Given the description of an element on the screen output the (x, y) to click on. 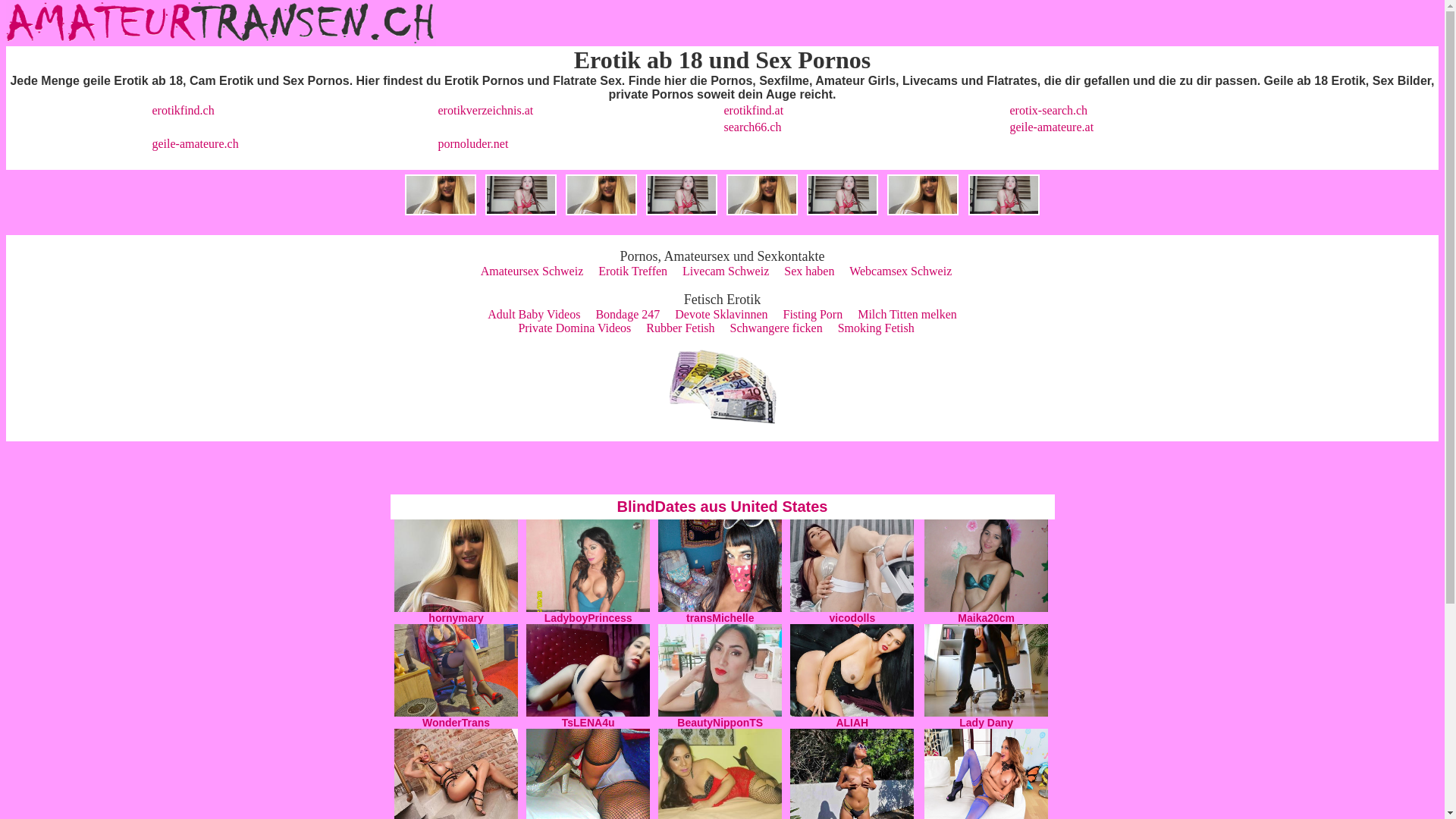
HOME Element type: hover (221, 41)
TsLENA4u Element type: text (588, 722)
geile-amateure.ch Element type: text (194, 143)
hornymary Element type: text (455, 617)
Private Domina Videos Element type: text (573, 327)
vicodolls Element type: text (851, 617)
Besuche mich jetzt Live in meiner Show Element type: hover (986, 712)
Devote Sklavinnen Element type: text (720, 313)
transMichelle Element type: text (719, 617)
Besuche mich jetzt Live in meiner Show Element type: hover (851, 712)
pornoluder.net Element type: text (473, 143)
Amateursex Schweiz Element type: text (531, 270)
Besuche mich jetzt Live in meiner Show Element type: hover (455, 712)
search66.ch Element type: text (752, 126)
ALIAH Element type: text (851, 722)
Smoking Fetish Element type: text (875, 327)
Adult Baby Videos Element type: text (533, 313)
Erotik Treffen Element type: text (632, 270)
Besuche mich jetzt Live in meiner Show Element type: hover (587, 607)
Schwangere ficken Element type: text (776, 327)
Milch Titten melken Element type: text (907, 313)
Lady Dany Element type: text (986, 722)
BlindDates aus United States Element type: text (722, 506)
erotikfind.at Element type: text (753, 109)
Bondage 247 Element type: text (627, 313)
Fisting Porn Element type: text (812, 313)
Besuche mich jetzt Live in meiner Show Element type: hover (587, 712)
Rubber Fetish Element type: text (680, 327)
Besuche mich jetzt Live in meiner Show Element type: hover (851, 607)
Sex haben Element type: text (809, 270)
Maika20cm Element type: text (985, 617)
WonderTrans Element type: text (455, 722)
Livecam Schweiz Element type: text (725, 270)
Webcamsex Schweiz Element type: text (900, 270)
Besuche mich jetzt Live in meiner Show Element type: hover (986, 607)
erotix-search.ch Element type: text (1049, 109)
Klicken und im Internet Geld verdienen Element type: hover (721, 418)
Besuche mich jetzt Live in meiner Show Element type: hover (455, 607)
BeautyNipponTS Element type: text (719, 722)
erotikfind.ch Element type: text (182, 109)
Besuche mich jetzt Live in meiner Show Element type: hover (719, 607)
erotikverzeichnis.at Element type: text (485, 109)
LadyboyPrincess Element type: text (588, 617)
Besuche mich jetzt Live in meiner Show Element type: hover (719, 712)
geile-amateure.at Element type: text (1052, 126)
